Given the description of an element on the screen output the (x, y) to click on. 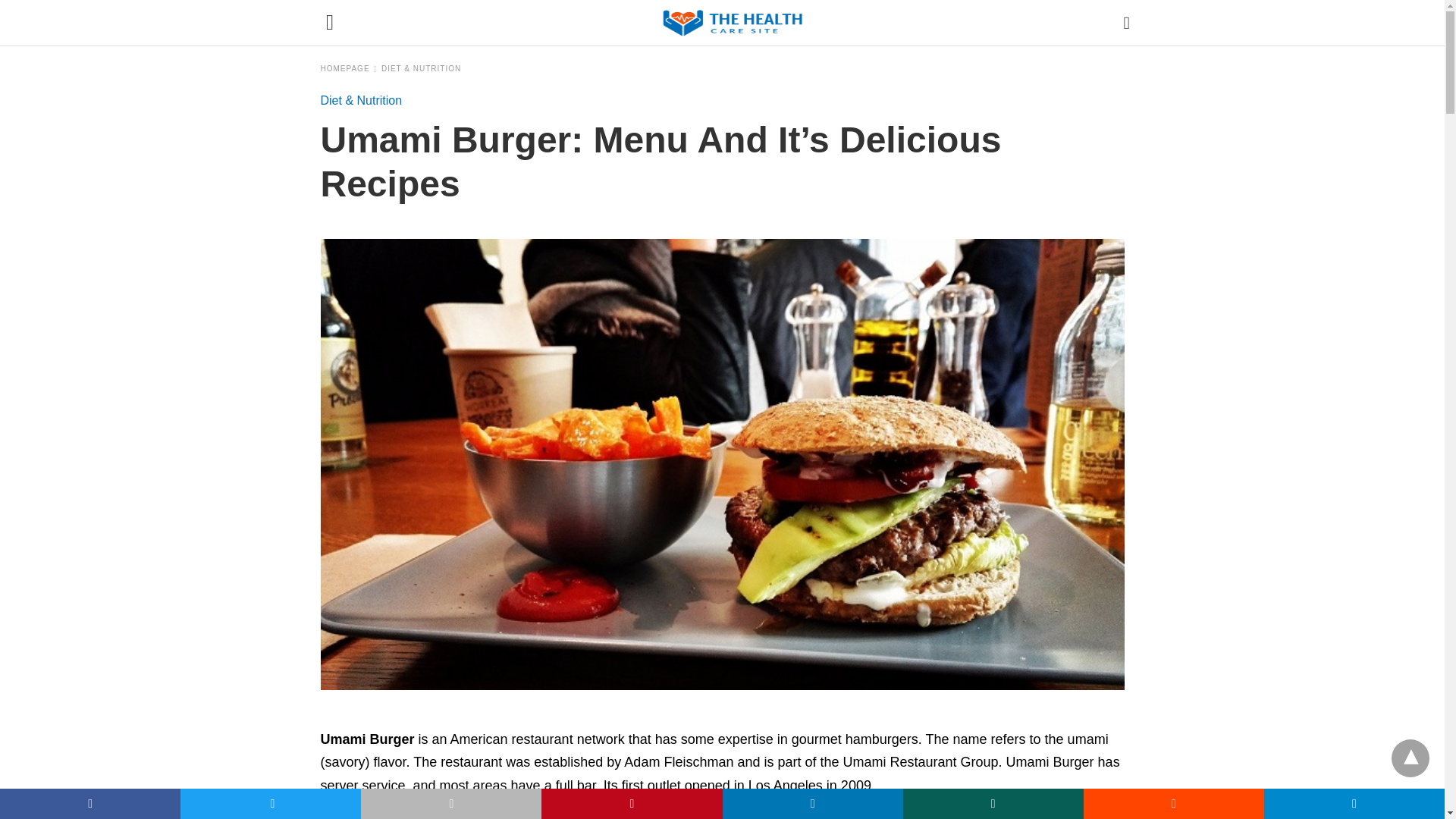
The Health Care Site (733, 22)
HOMEPAGE (348, 68)
Homepage (348, 68)
